Given the description of an element on the screen output the (x, y) to click on. 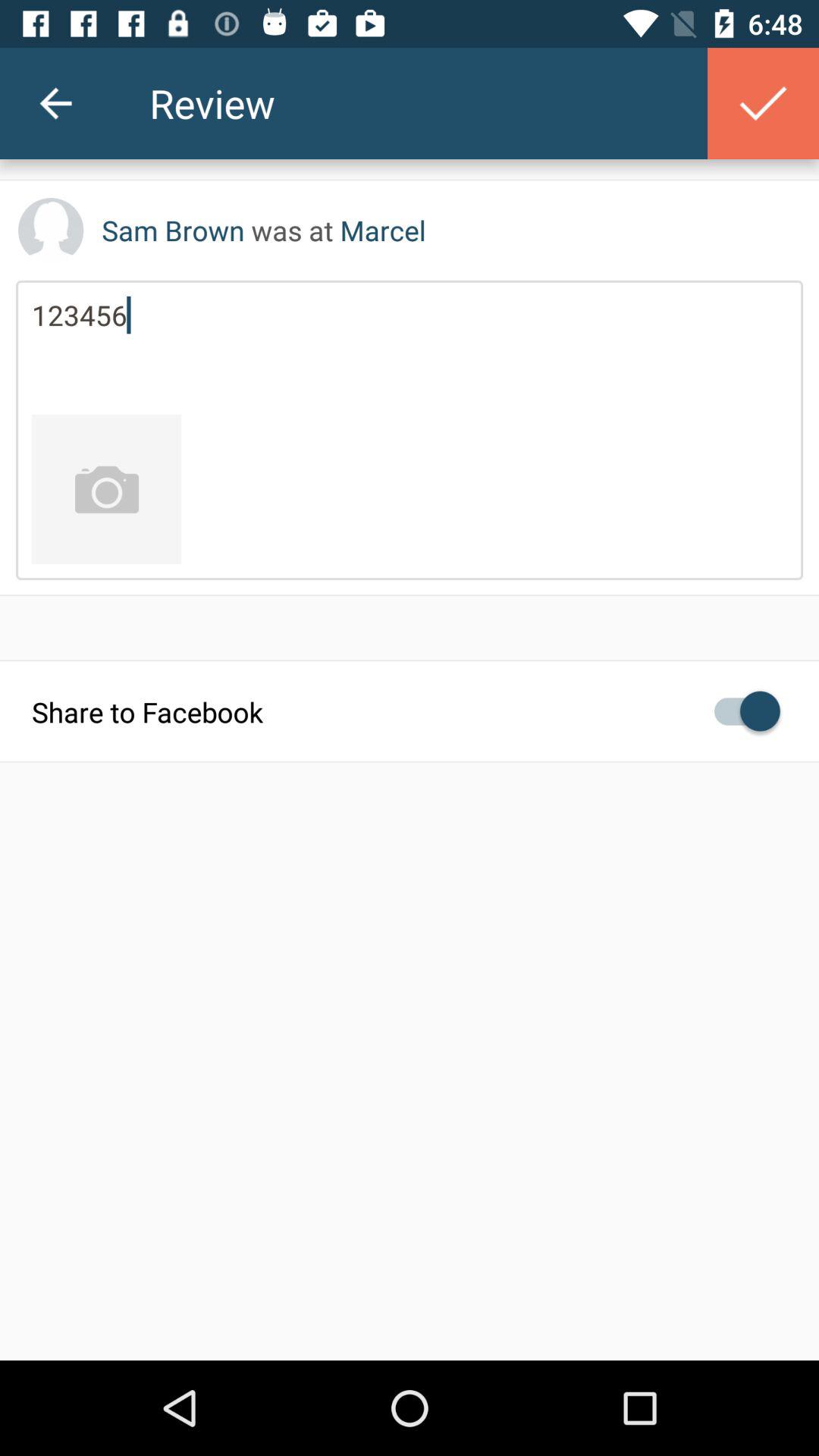
press the item to the right of review item (763, 103)
